Given the description of an element on the screen output the (x, y) to click on. 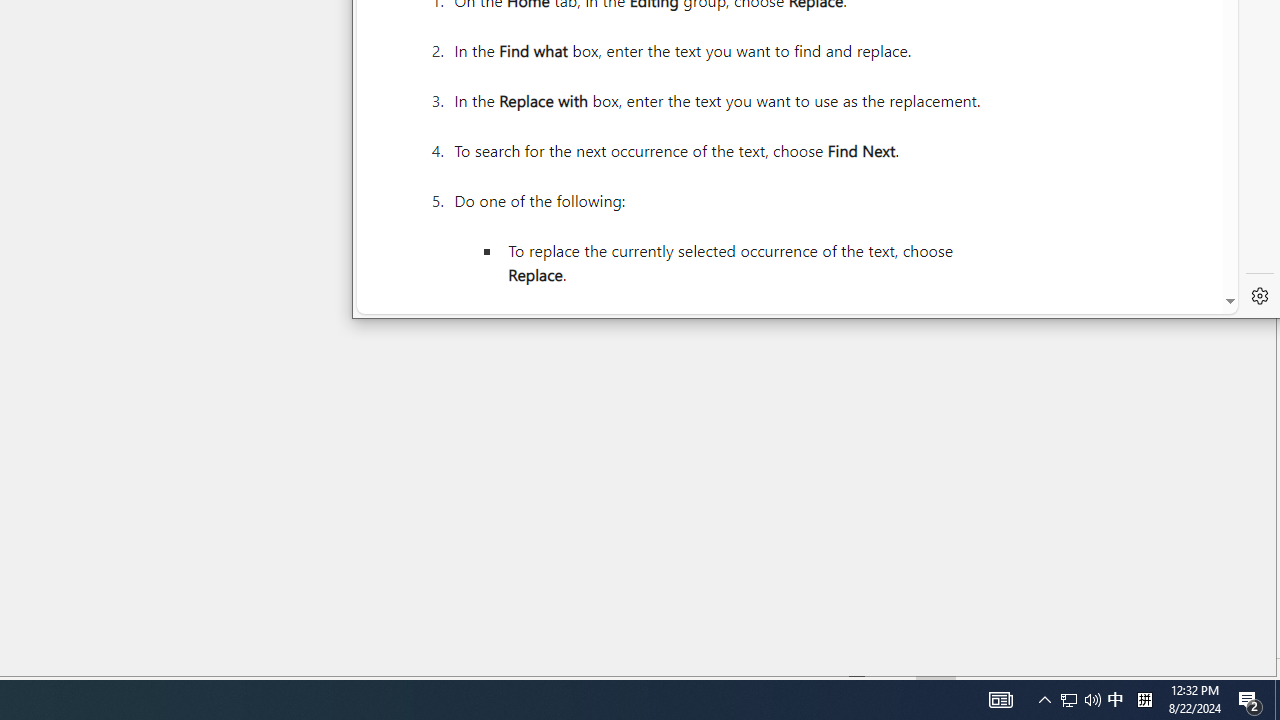
To replace all occurrences of the text, choose Replace All. (743, 324)
